Given the description of an element on the screen output the (x, y) to click on. 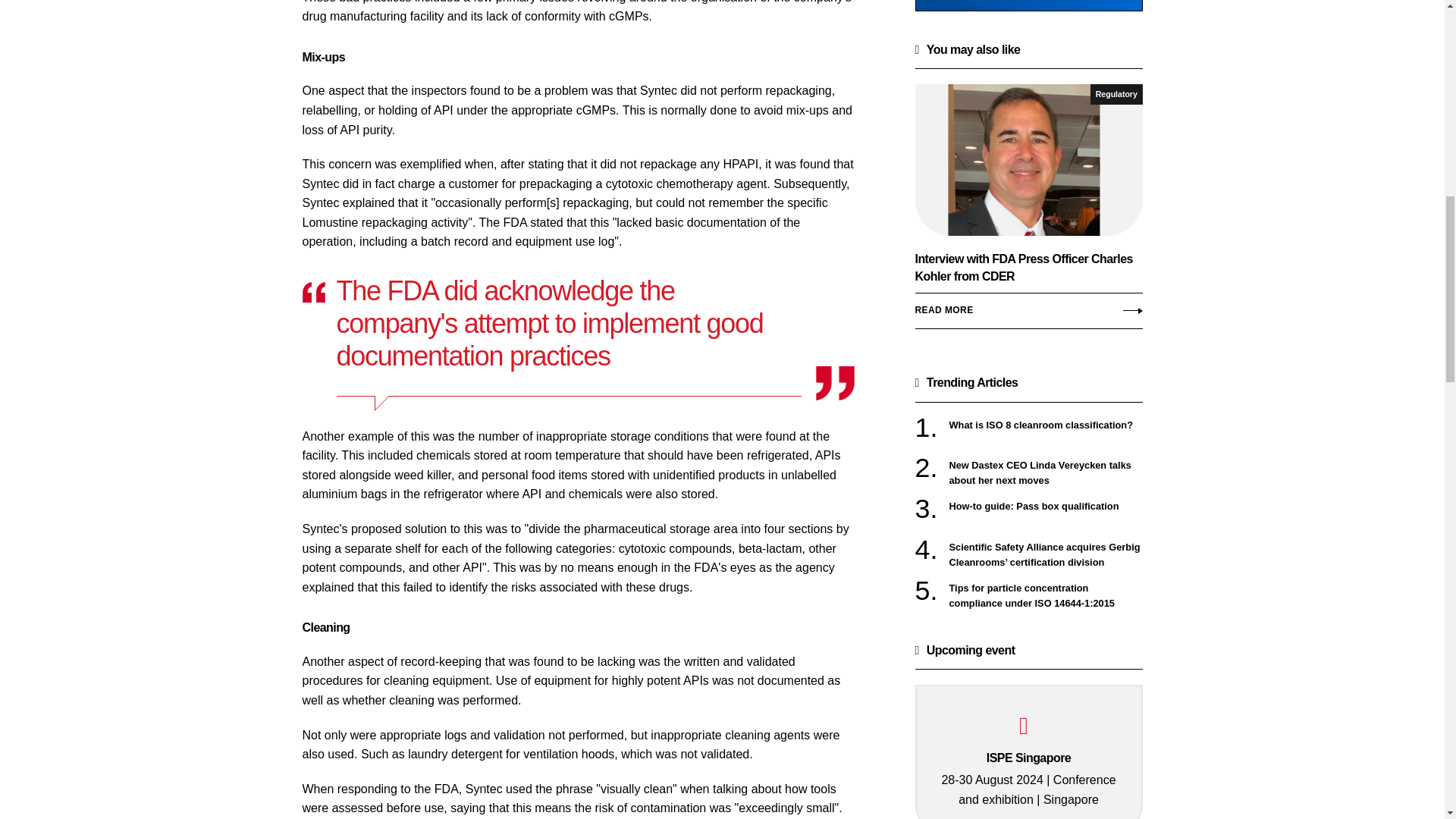
What is ISO 8 cleanroom classification? (1045, 425)
How-to guide: Pass box qualification (1045, 506)
Regulatory (1115, 94)
New Dastex CEO Linda Vereycken talks about her next moves (1045, 472)
